Given the description of an element on the screen output the (x, y) to click on. 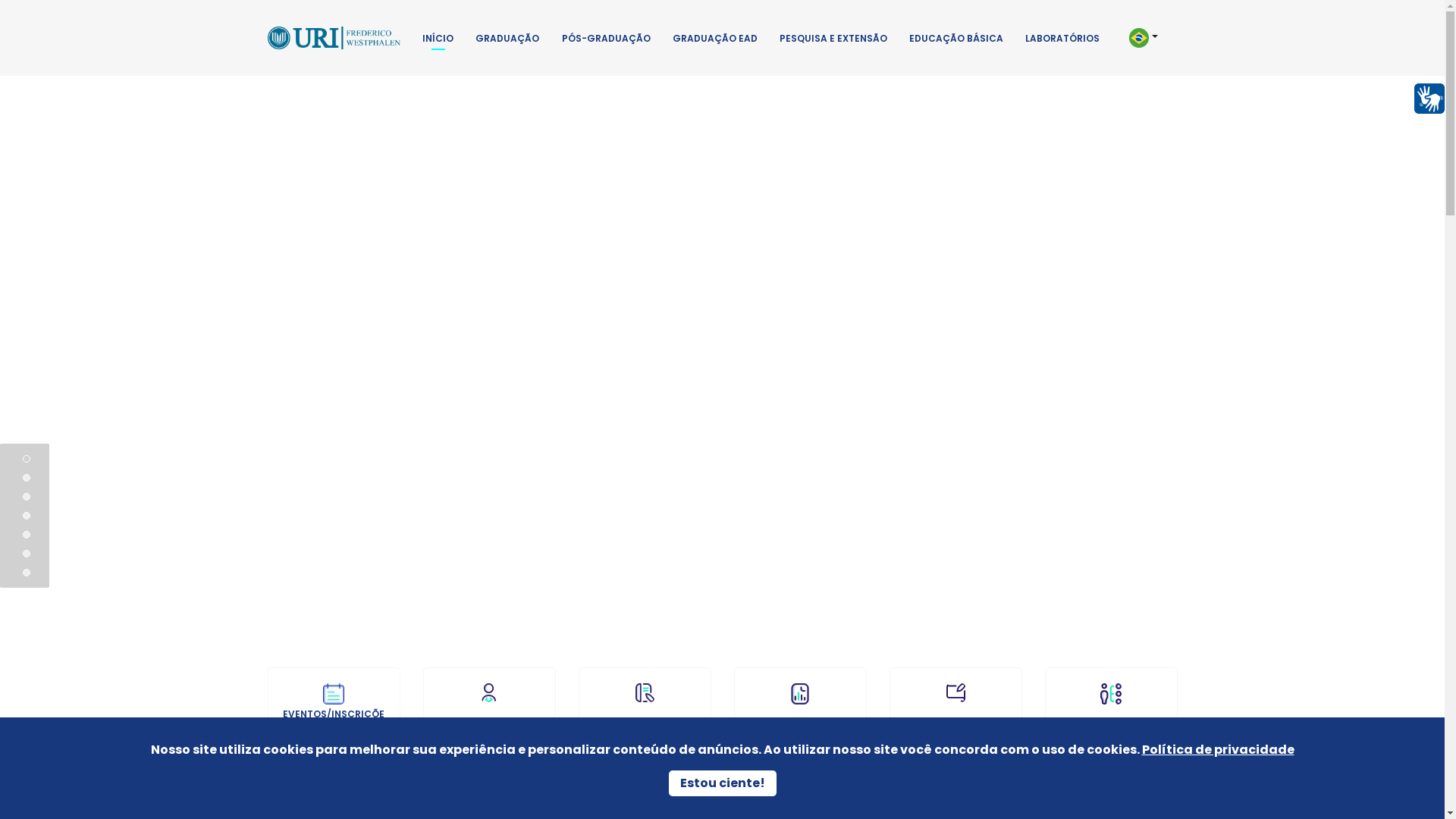
Item 2 Element type: text (26, 496)
Item 4 Element type: text (26, 534)
Item 0 Element type: hover (26, 458)
Item 1 Element type: text (26, 477)
Item 0 Element type: text (26, 458)
Item 3 Element type: text (26, 515)
Item 4 Element type: hover (26, 534)
Item 5 Element type: text (26, 553)
DIPLOMADOS Element type: text (954, 712)
Item 1 Element type: hover (26, 477)
EDITAIS Element type: text (643, 712)
PORTAIS Element type: text (489, 712)
Item 3 Element type: hover (26, 515)
VLibras Element type: hover (1429, 98)
Item 2 Element type: hover (26, 496)
Item 5 Element type: hover (26, 553)
Item 6 Element type: hover (26, 572)
VANTAGENS Element type: text (800, 712)
FORMAS DE INGRESSO Element type: text (1110, 712)
Item 6 Element type: text (26, 572)
Estou ciente! Element type: text (722, 783)
